Given the description of an element on the screen output the (x, y) to click on. 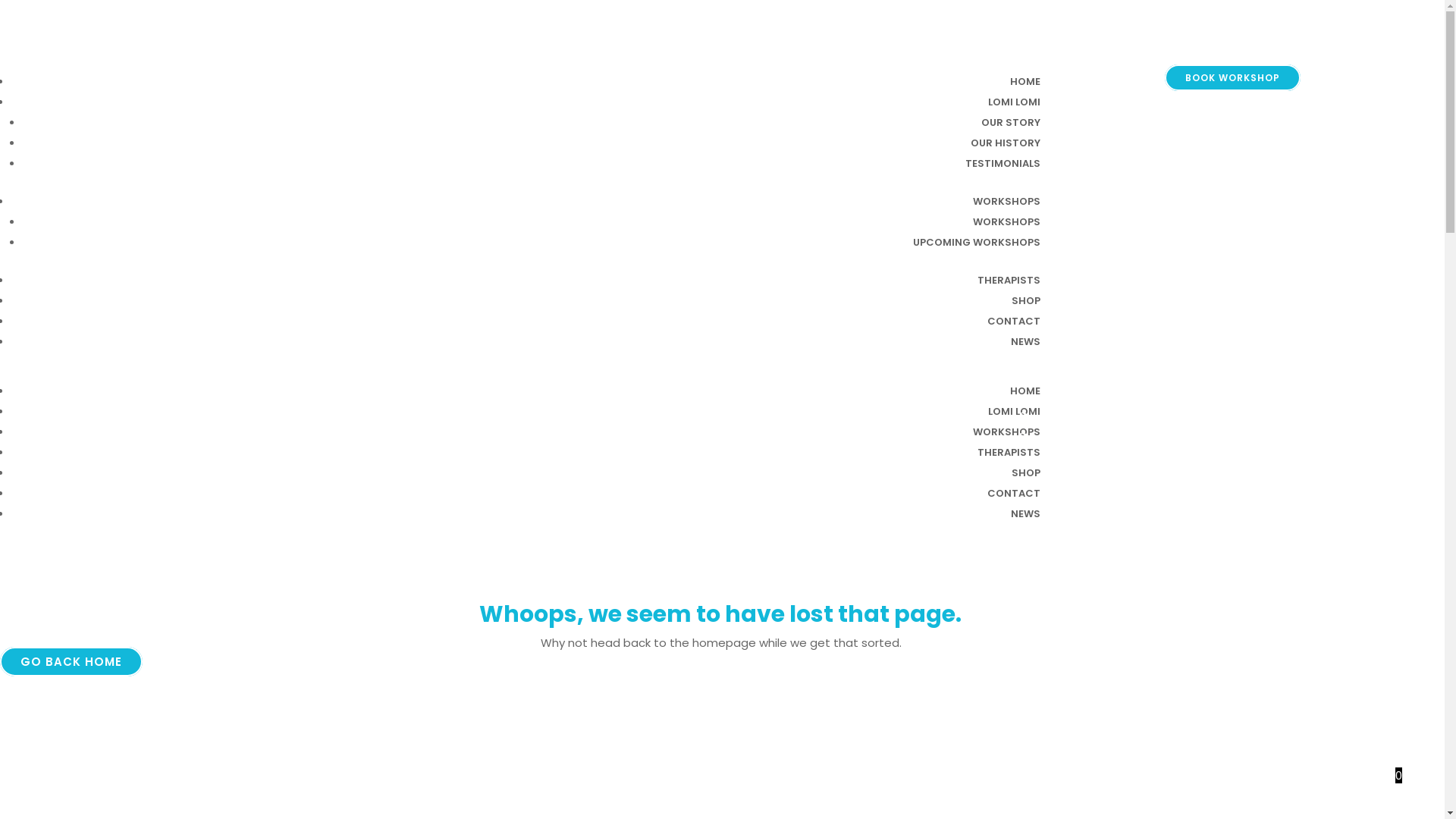
WORKSHOPS Element type: text (1006, 201)
UPCOMING WORKSHOPS Element type: text (976, 242)
LOMI LOMI Element type: text (1014, 410)
OUR STORY Element type: text (1010, 122)
SHOP Element type: text (1025, 472)
BOOK WORKSHOP Element type: text (1232, 76)
NEWS Element type: text (1025, 340)
TESTIMONIALS Element type: text (1002, 163)
WORKSHOPS Element type: text (1006, 220)
CONTACT Element type: text (1013, 320)
GO BACK HOME Element type: text (71, 661)
SHOP Element type: text (1025, 299)
LOMI LOMI Element type: text (1014, 101)
HOME Element type: text (1025, 81)
CONTACT Element type: text (1013, 492)
THERAPISTS Element type: text (1008, 451)
THERAPISTS Element type: text (1008, 280)
HOME Element type: text (1025, 390)
NEWS Element type: text (1025, 513)
WORKSHOPS Element type: text (1006, 431)
OUR HISTORY Element type: text (1005, 141)
